Given the description of an element on the screen output the (x, y) to click on. 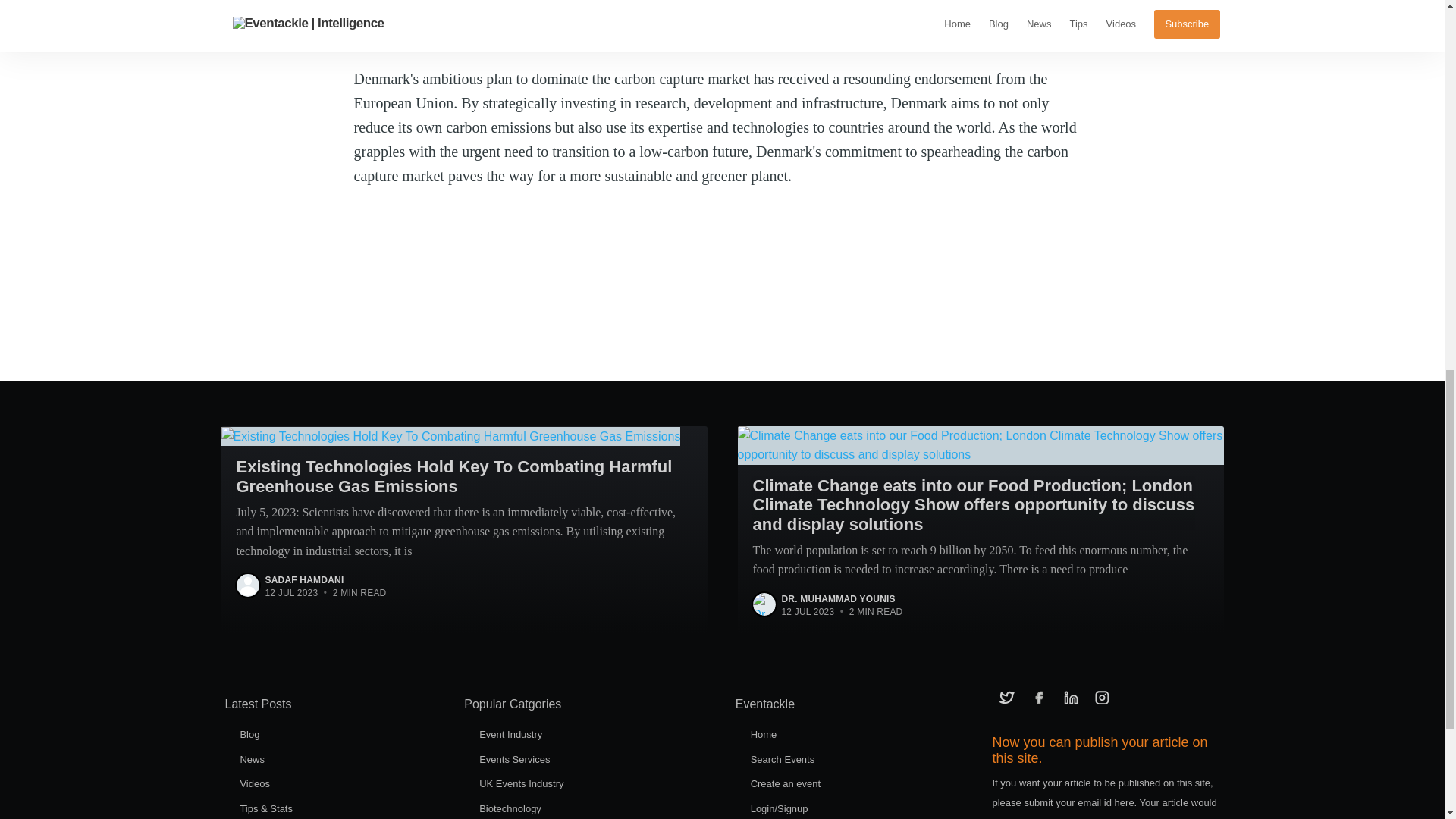
News (252, 758)
Create an event (786, 783)
UK Events Industry (521, 783)
Biotechnology (510, 808)
DR. MUHAMMAD YOUNIS (837, 598)
Search Events (783, 758)
Videos (254, 783)
Event Industry (510, 734)
Blog (249, 734)
Events Services (514, 758)
SADAF HAMDANI (303, 579)
Home (764, 734)
